Given the description of an element on the screen output the (x, y) to click on. 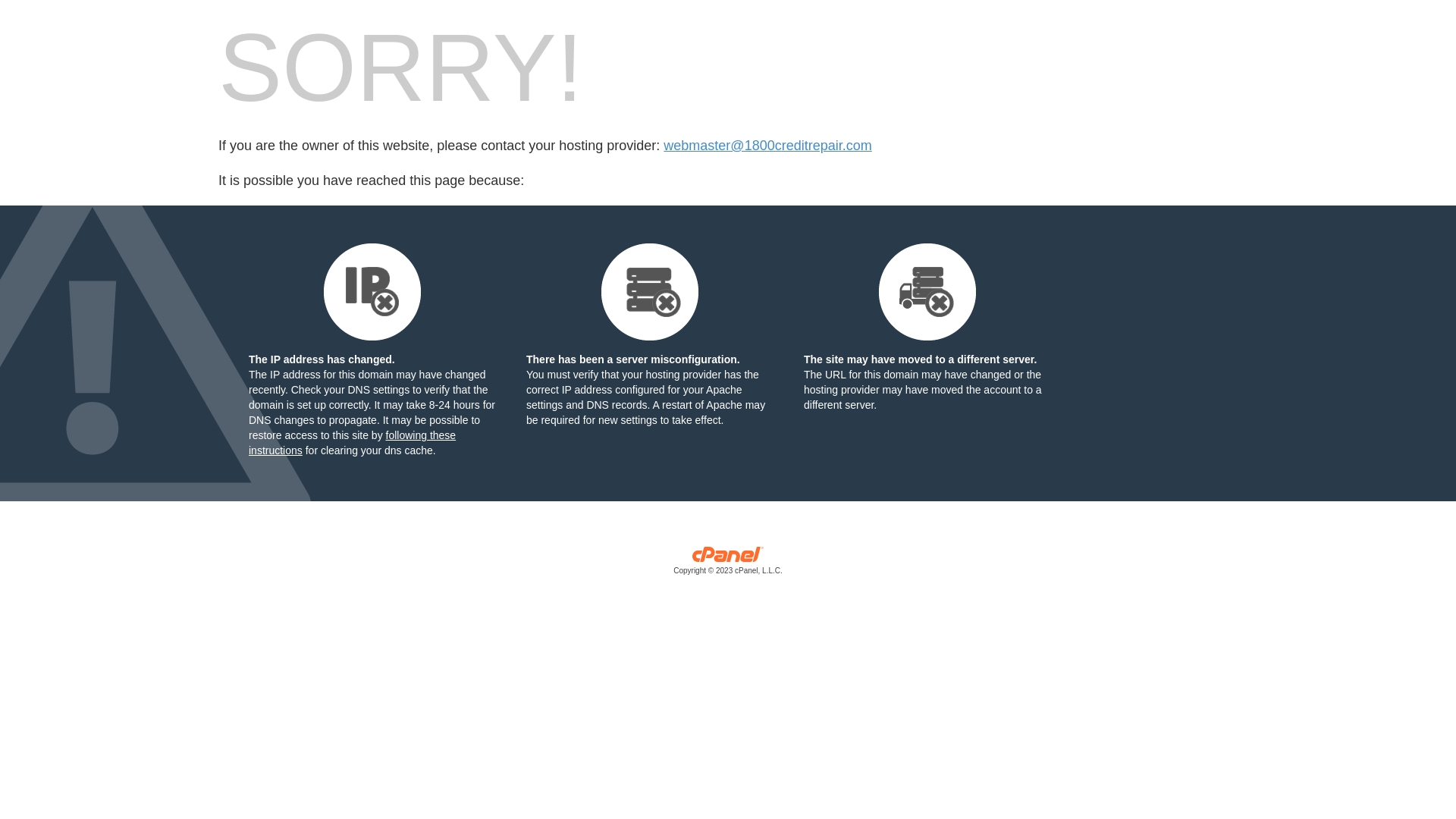
following these instructions Element type: text (351, 442)
webmaster@1800creditrepair.com Element type: text (767, 145)
